Given the description of an element on the screen output the (x, y) to click on. 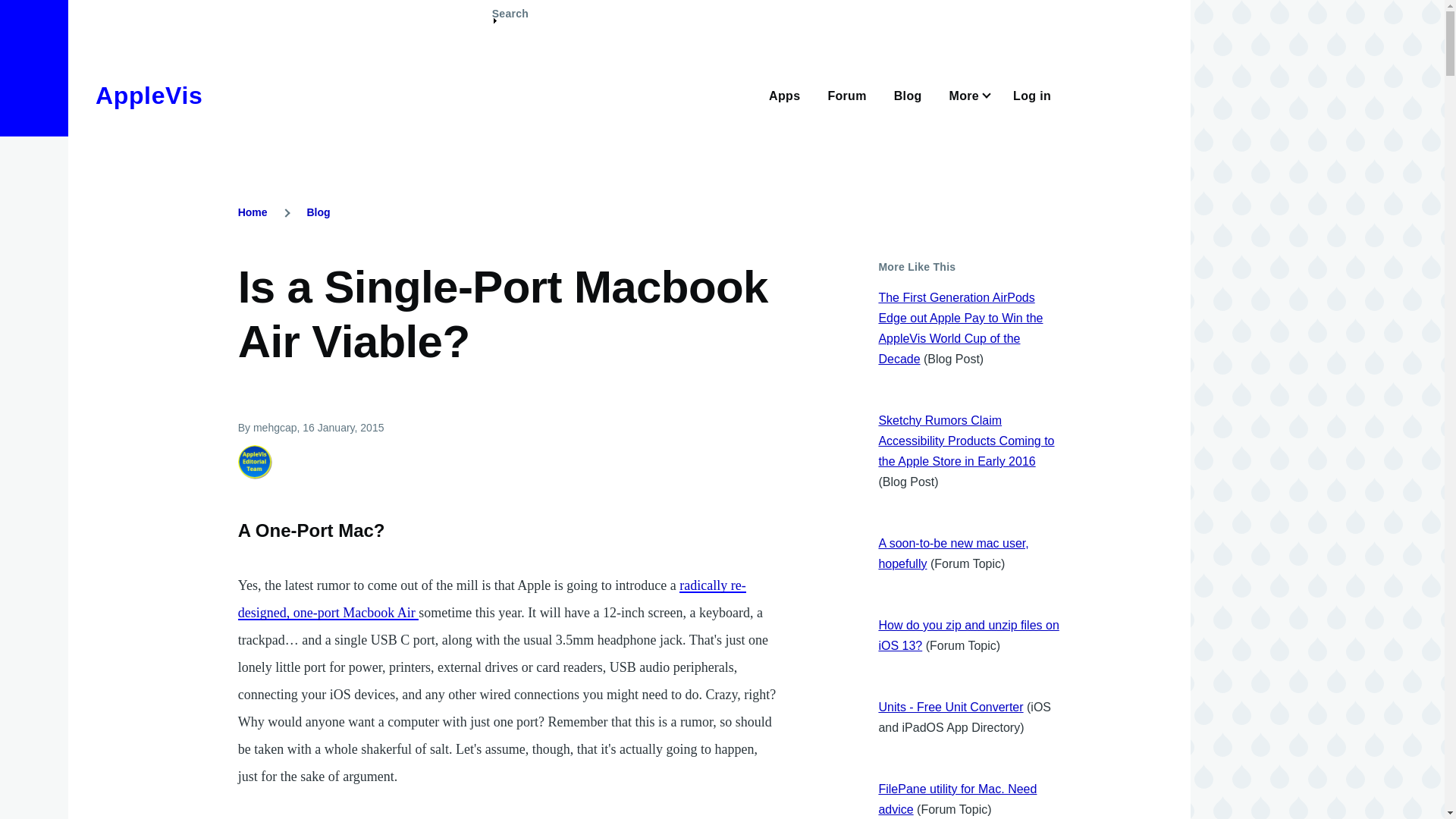
radically re-designed, one-port Macbook Air (491, 598)
Skip to main content (595, 6)
Search (510, 20)
AppleVis (149, 94)
Blog (317, 212)
Home (149, 94)
Home (252, 212)
